Given the description of an element on the screen output the (x, y) to click on. 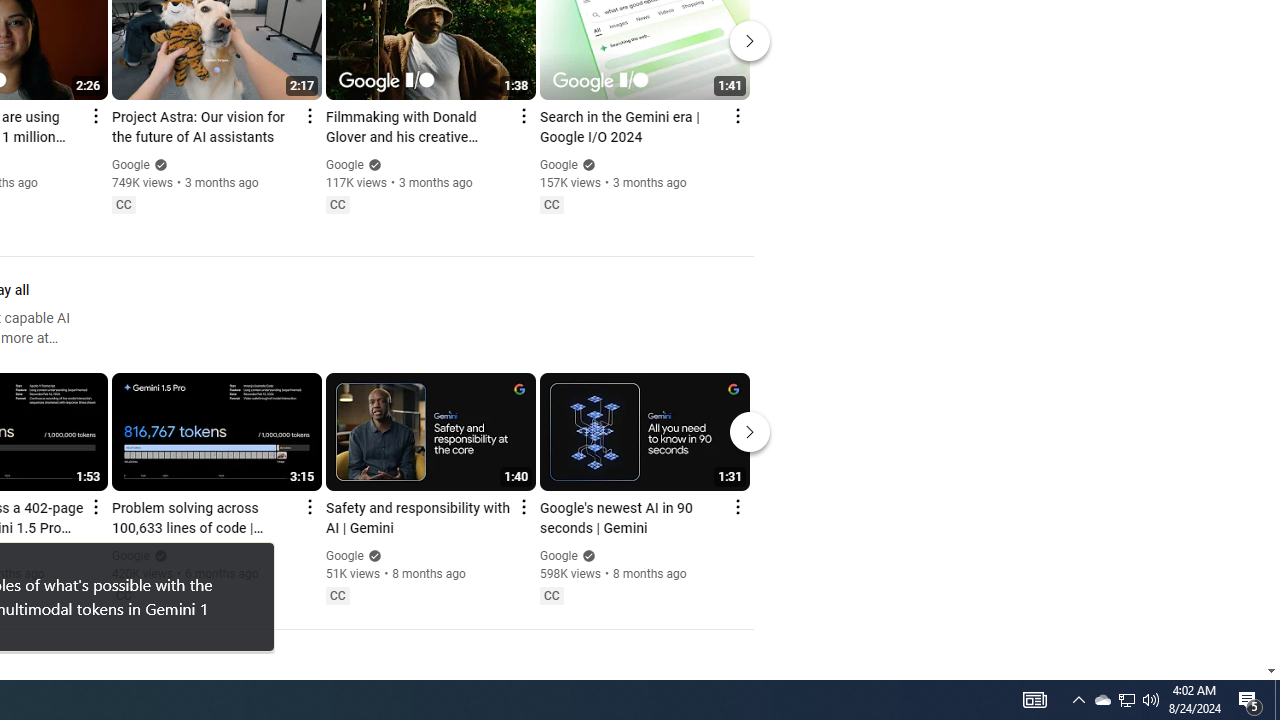
Next (749, 431)
Google (558, 556)
Action menu (736, 506)
Verified (586, 555)
Closed captions (551, 595)
